Given the description of an element on the screen output the (x, y) to click on. 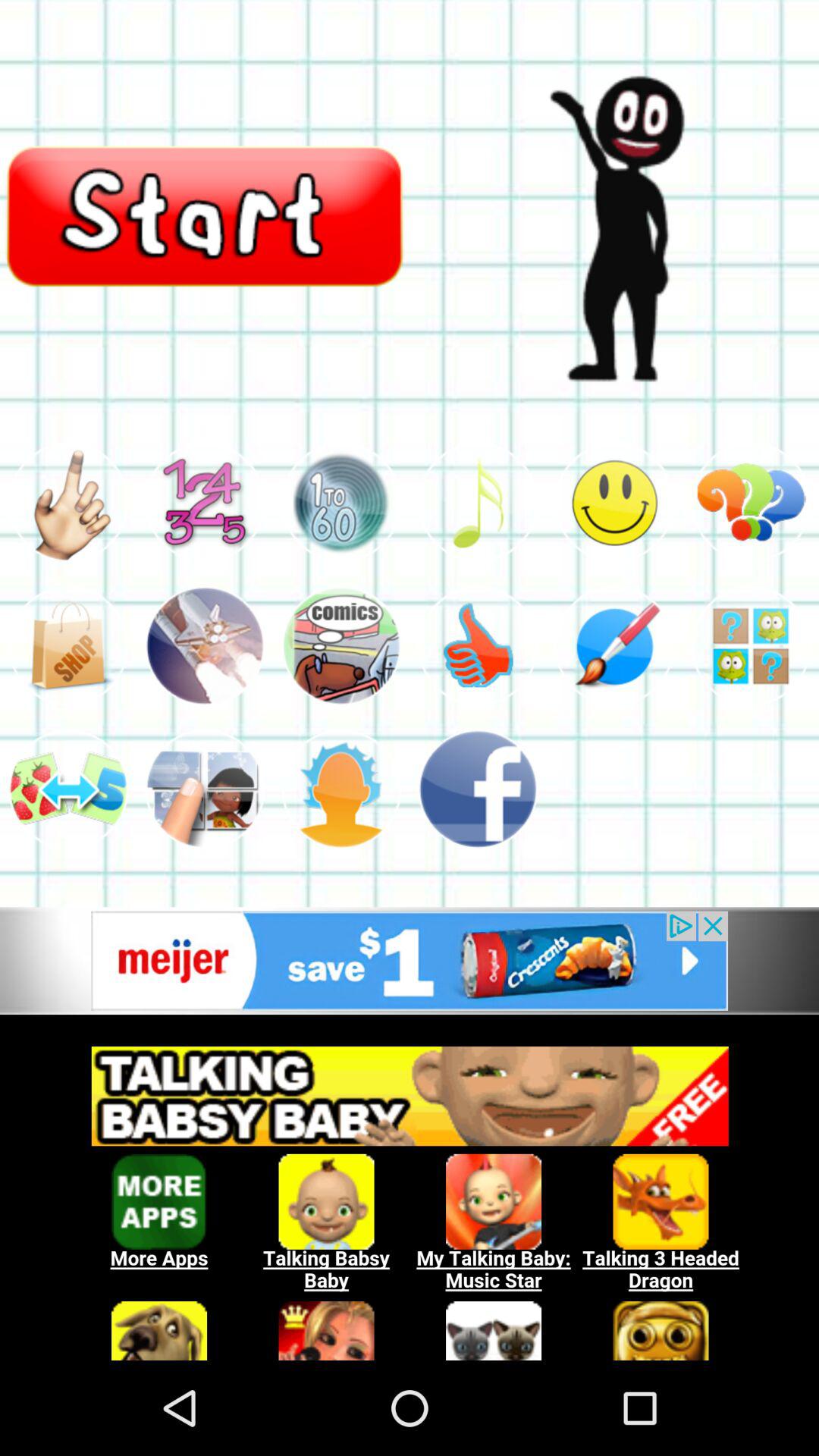
open advertisement (409, 960)
